Given the description of an element on the screen output the (x, y) to click on. 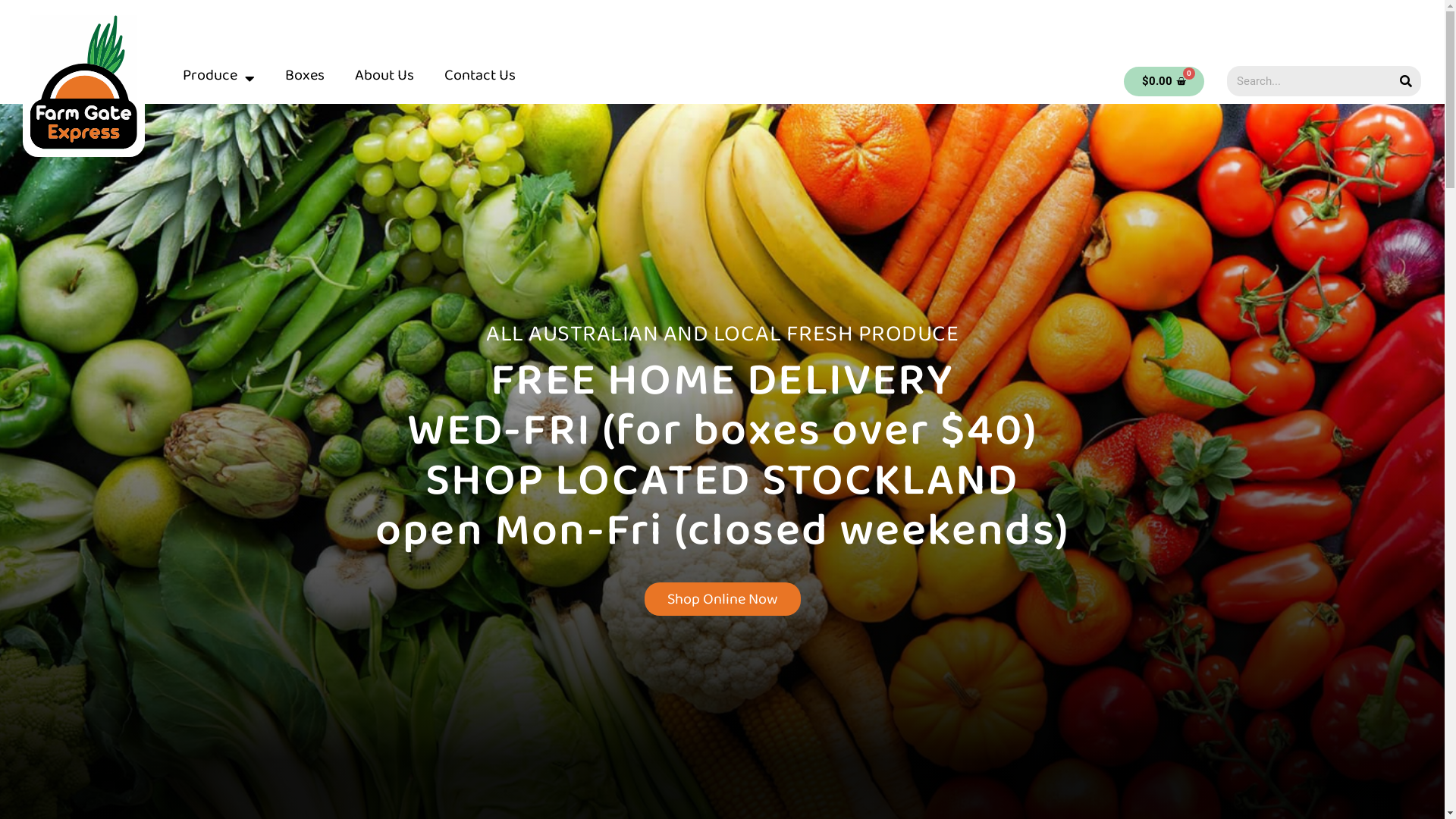
Search Element type: hover (1405, 80)
Produce Element type: text (218, 78)
$0.00
0 Element type: text (1163, 81)
Search Element type: hover (1308, 80)
Contact Us Element type: text (479, 78)
Boxes Element type: text (304, 78)
Shop Online Now Element type: text (722, 598)
About Us Element type: text (384, 78)
